Given the description of an element on the screen output the (x, y) to click on. 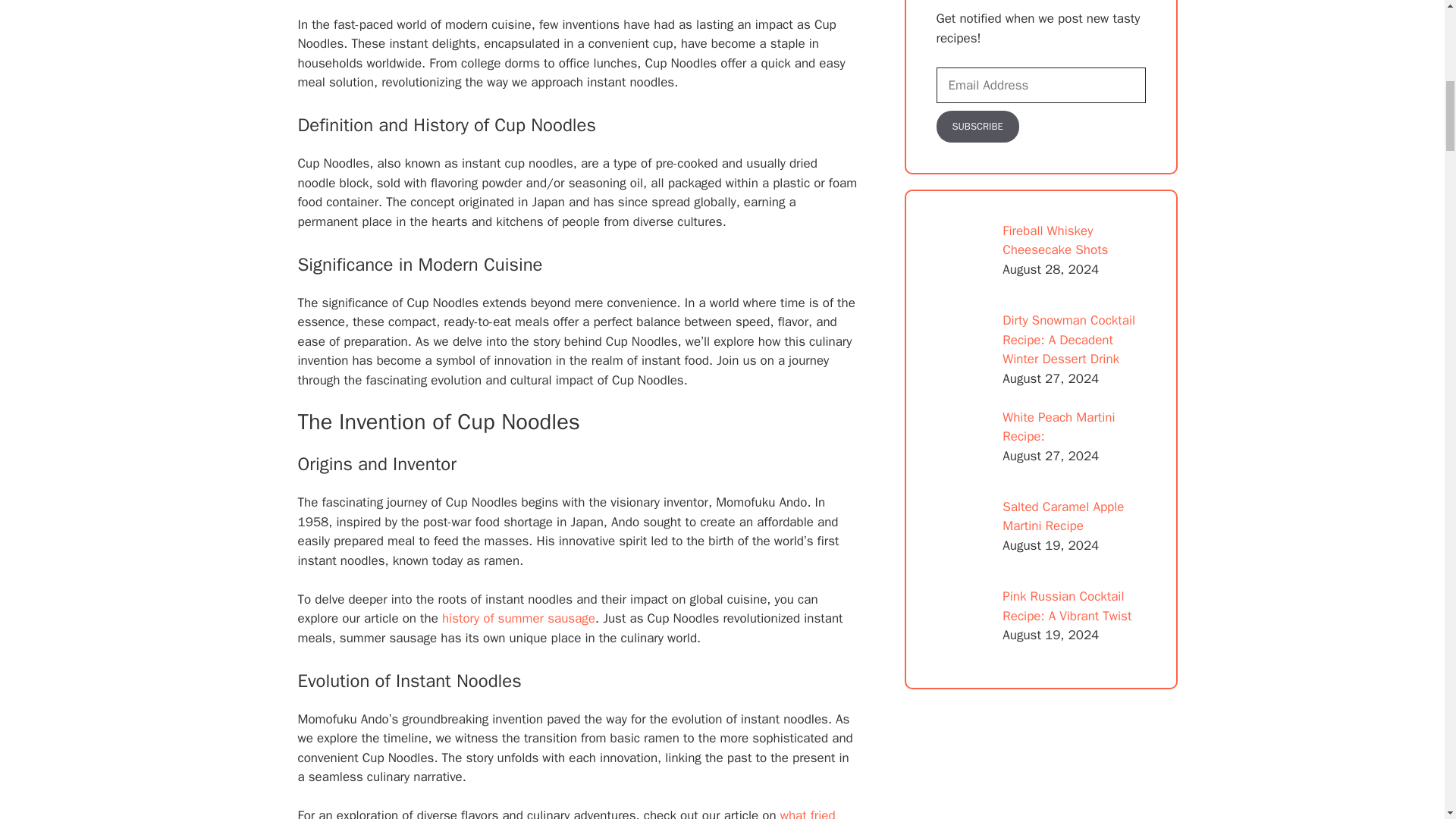
what fried chicken ice cream tastes like (565, 813)
Fireball Whiskey Cheesecake Shots (1055, 240)
White Peach Martini Recipe: (1059, 427)
Scroll back to top (1406, 720)
history of summer sausage (518, 618)
Subscribe (976, 126)
Subscribe (976, 126)
Salted Caramel Apple Martini Recipe (1063, 516)
